Given the description of an element on the screen output the (x, y) to click on. 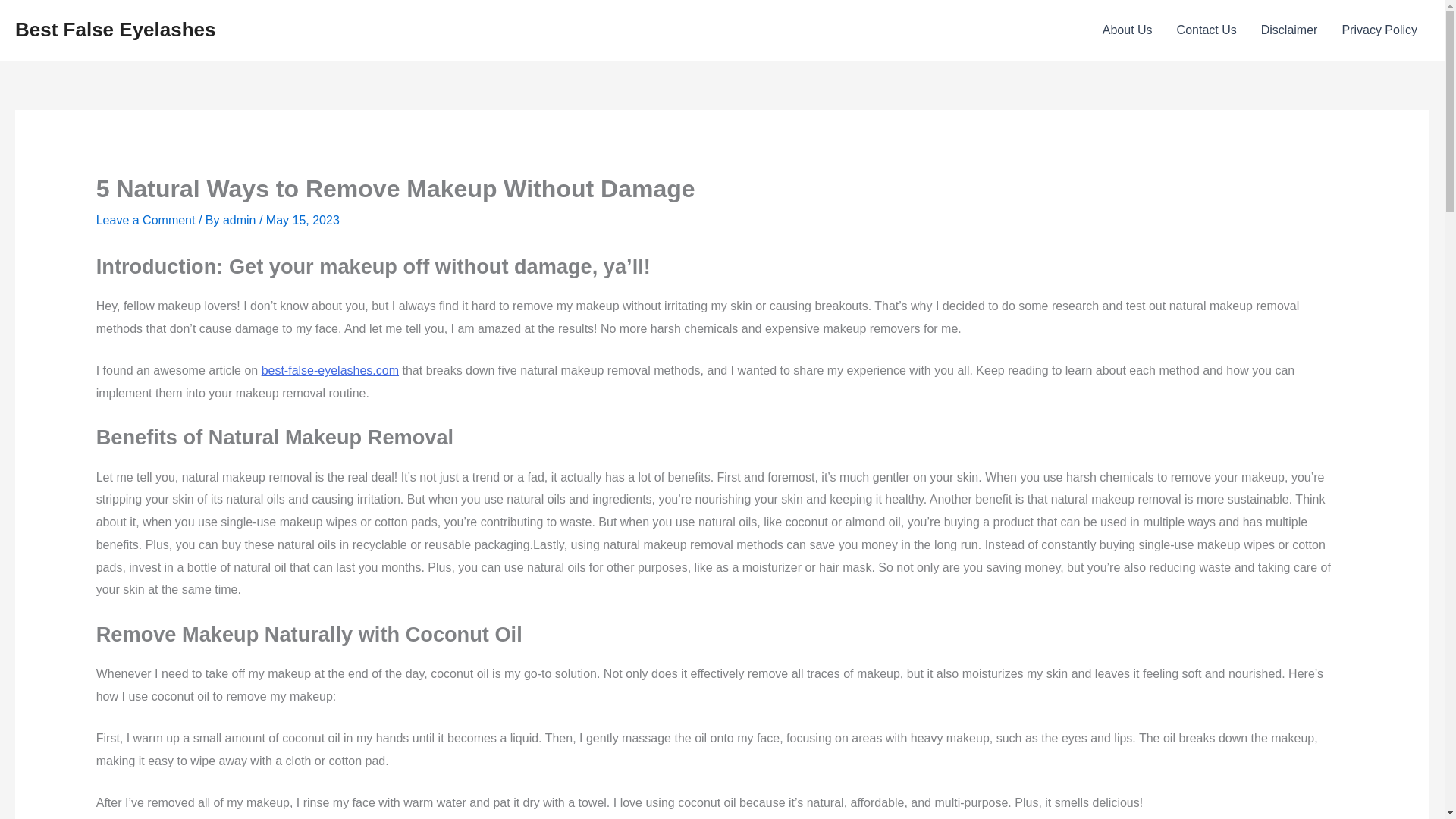
best-false-eyelashes.com (330, 369)
About Us (1127, 30)
admin (240, 219)
View all posts by admin (240, 219)
Leave a Comment (145, 219)
Contact Us (1206, 30)
Privacy Policy (1379, 30)
Best False Eyelashes (114, 29)
Disclaimer (1289, 30)
